Given the description of an element on the screen output the (x, y) to click on. 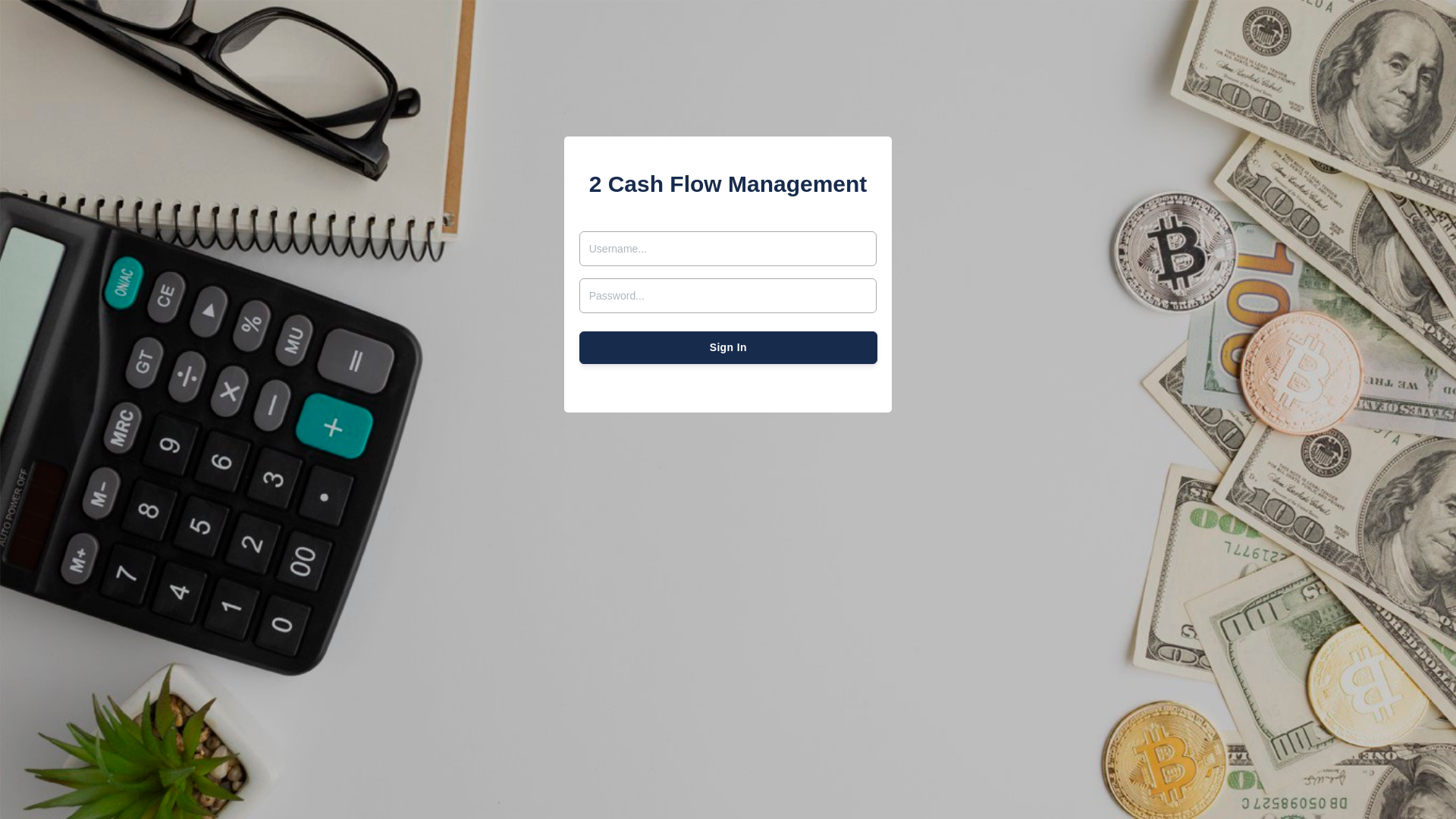
Sign In Element type: text (728, 347)
